Given the description of an element on the screen output the (x, y) to click on. 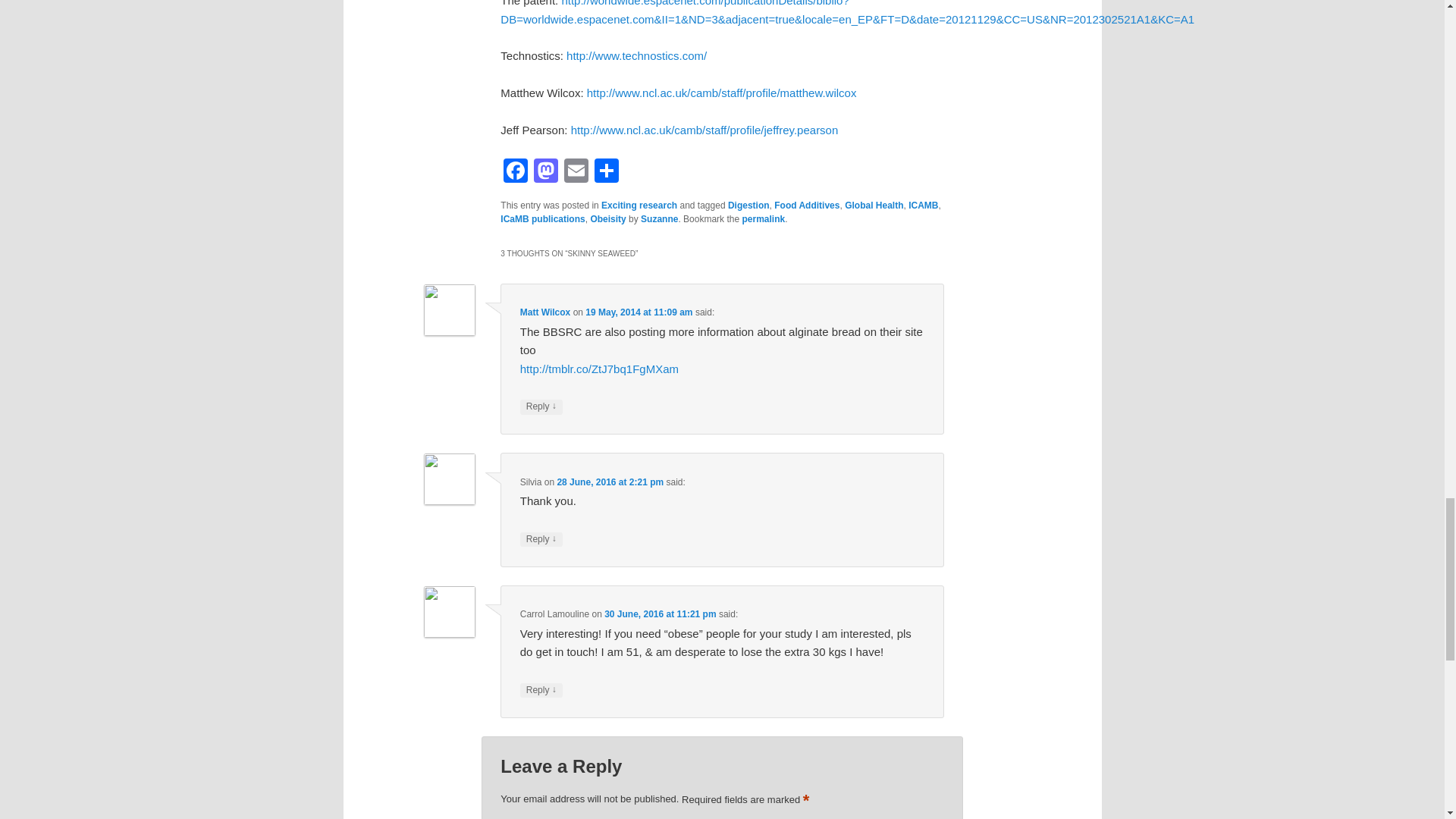
Mastodon (545, 172)
Email (575, 172)
Permalink to Skinny Seaweed (762, 218)
Facebook (515, 172)
Facebook (515, 172)
